Given the description of an element on the screen output the (x, y) to click on. 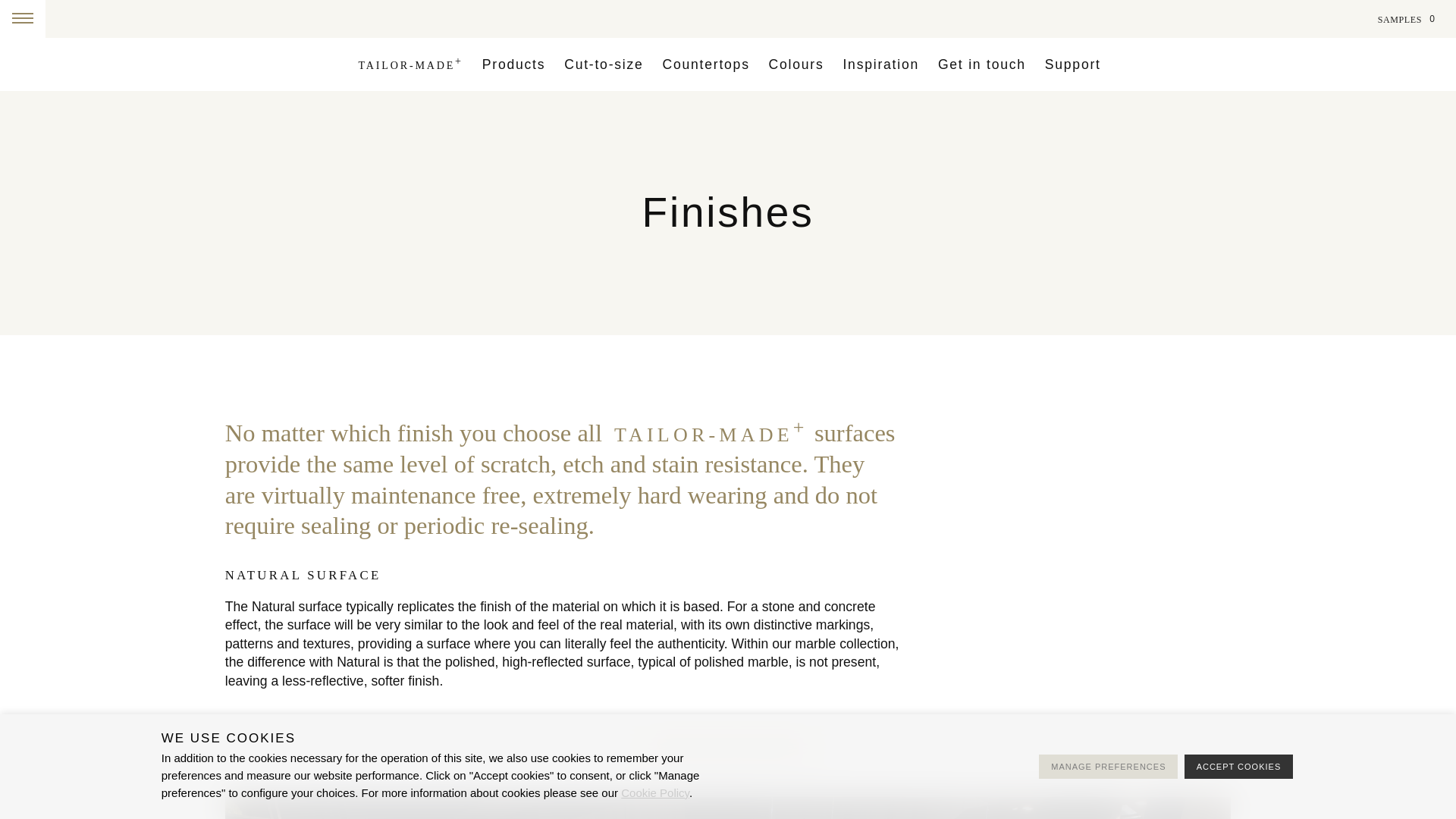
Countertops (705, 63)
Support (1072, 63)
Get in touch (981, 63)
Products (513, 63)
VIEW NATURAL SURFACES (727, 747)
Inspiration (880, 63)
Cut-to-size (603, 63)
Colours (796, 63)
